Given the description of an element on the screen output the (x, y) to click on. 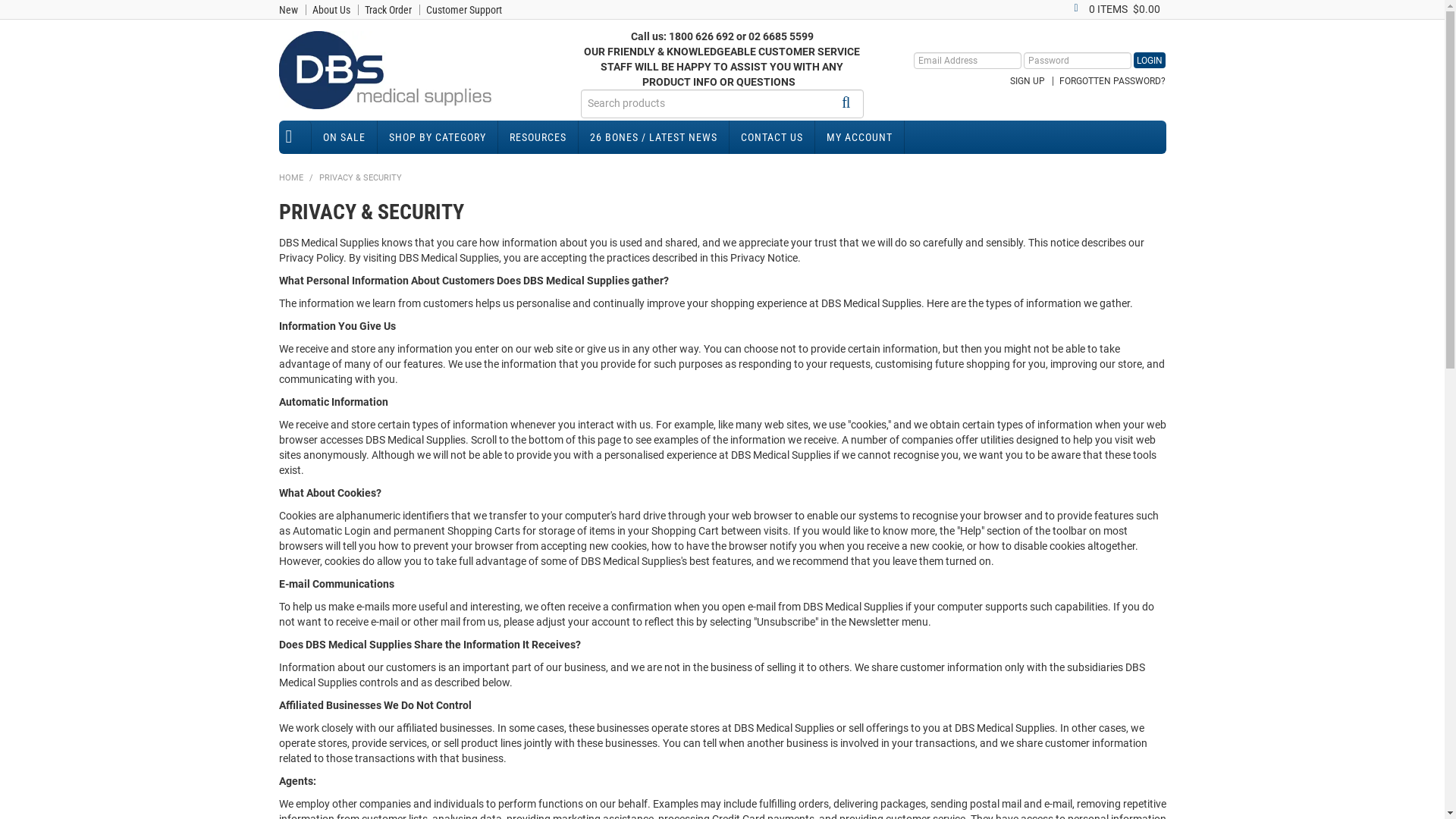
Customer Support Element type: text (464, 9)
MY ACCOUNT Element type: text (858, 136)
FORGOTTEN PASSWORD? Element type: text (1112, 80)
CONTACT US Element type: text (772, 136)
RESOURCES Element type: text (537, 136)
$0.00 Element type: text (1146, 8)
Login Element type: text (1149, 60)
HOME Element type: text (295, 136)
0 ITEMS Element type: text (1100, 8)
HOME Element type: text (291, 177)
Search Element type: text (849, 102)
ON SALE Element type: text (343, 136)
Track Order Element type: text (387, 9)
26 BONES / LATEST NEWS Element type: text (652, 136)
New Element type: text (288, 9)
About Us Element type: text (331, 9)
SHOP BY CATEGORY Element type: text (437, 136)
SIGN UP Element type: text (1027, 80)
